Given the description of an element on the screen output the (x, y) to click on. 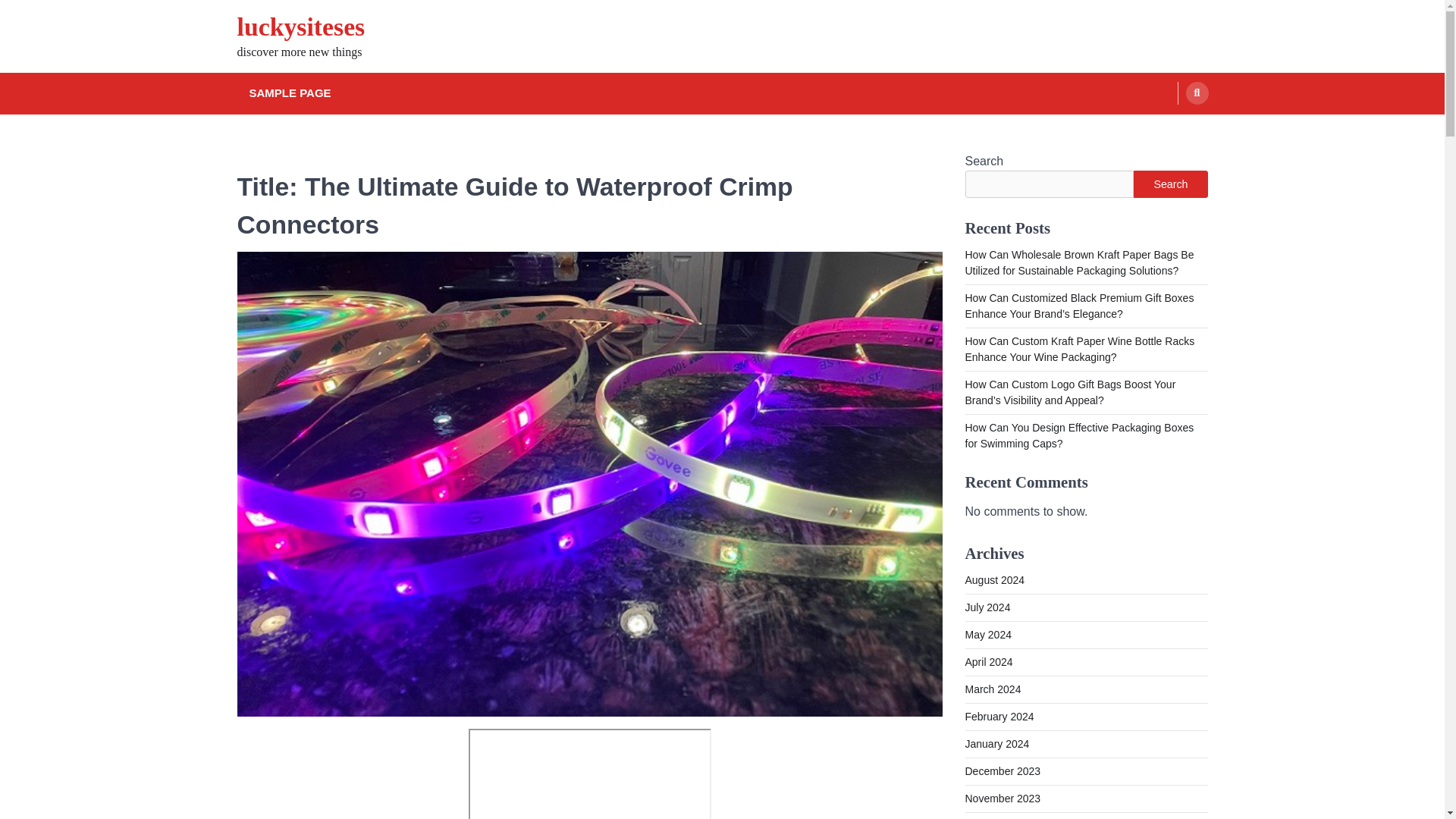
December 2023 (1002, 770)
March 2024 (991, 689)
Search (1170, 184)
April 2024 (987, 662)
SAMPLE PAGE (289, 93)
February 2024 (998, 716)
luckysiteses (300, 26)
May 2024 (986, 634)
